Given the description of an element on the screen output the (x, y) to click on. 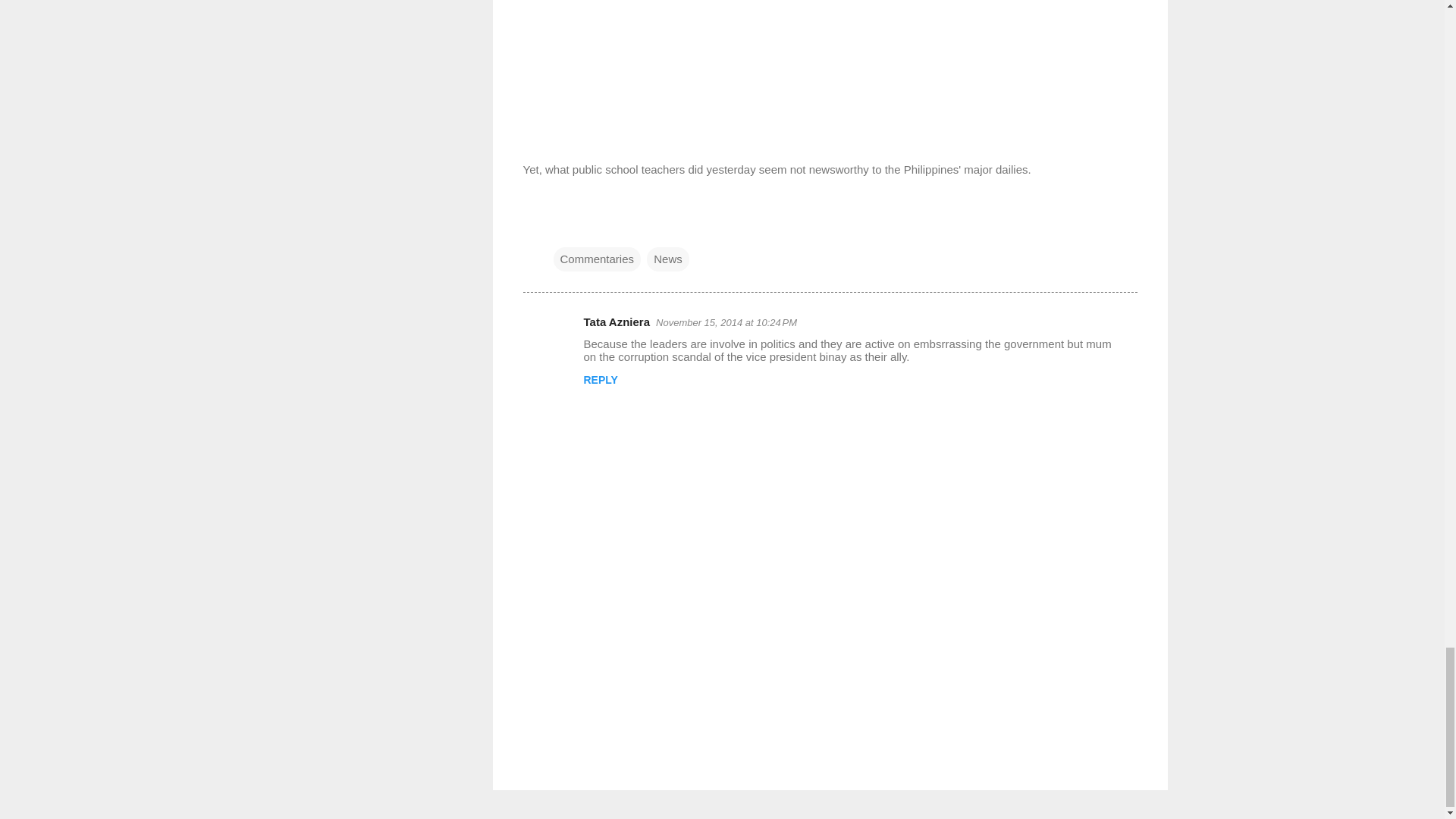
Commentaries (597, 259)
News (667, 259)
REPLY (600, 379)
